Given the description of an element on the screen output the (x, y) to click on. 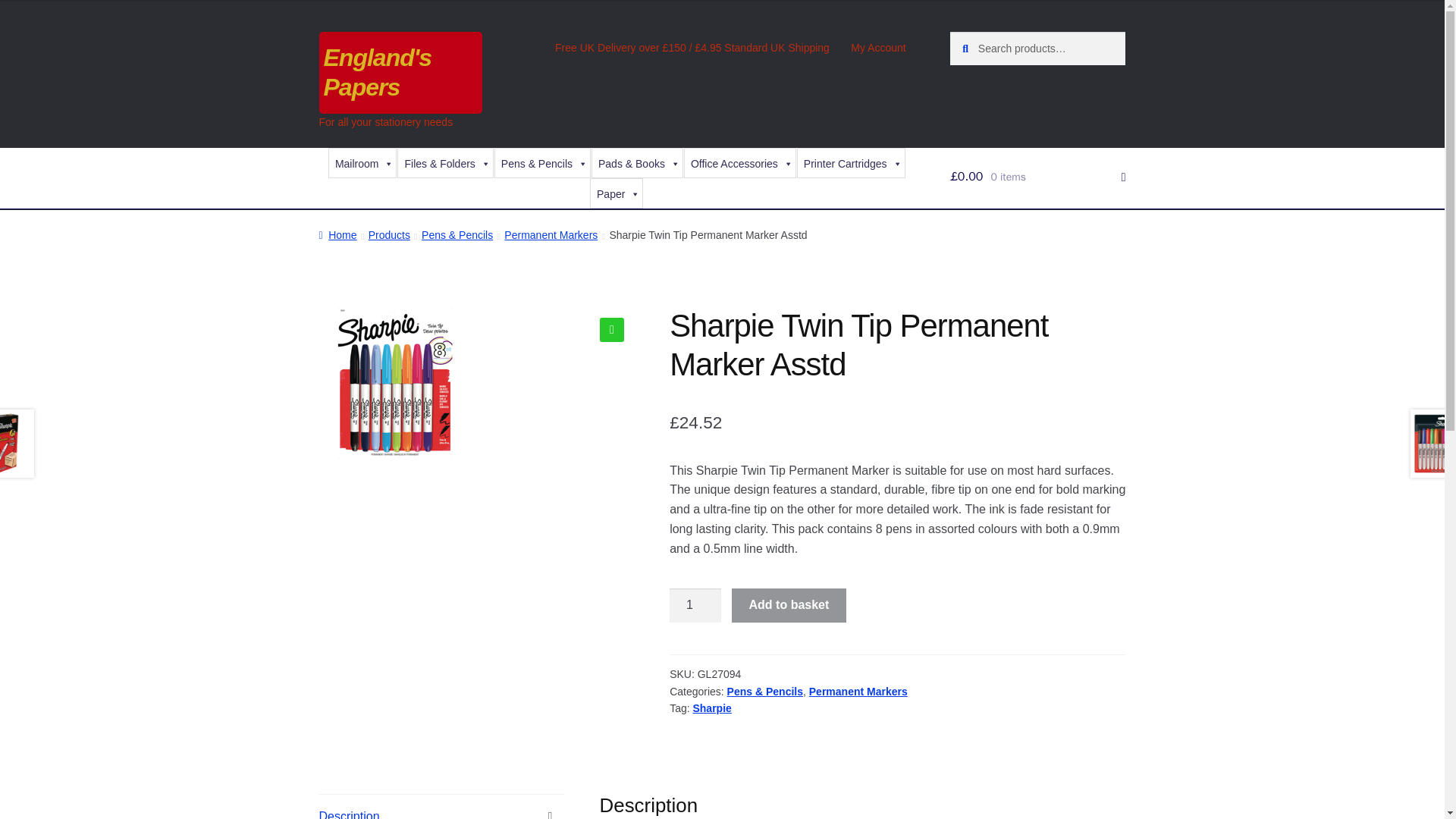
England's Papers (377, 72)
1 (694, 605)
Mailroom (363, 163)
GL27094.jpg (394, 382)
My Account (878, 47)
View your shopping basket (1037, 177)
